Given the description of an element on the screen output the (x, y) to click on. 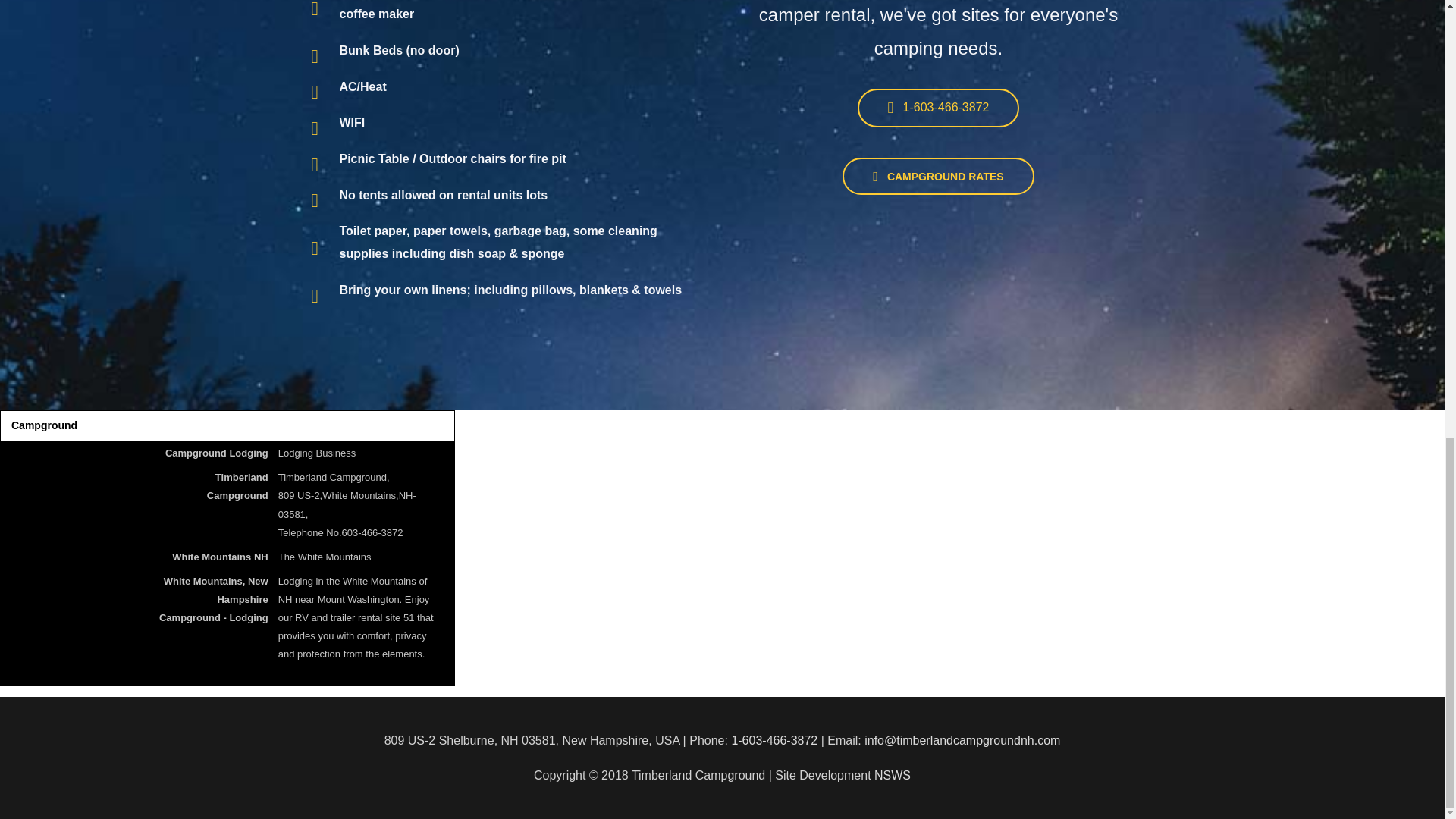
CAMPGROUND RATES (938, 176)
NSWS (893, 775)
1-603-466-3872 (938, 107)
Click Here (938, 107)
1-603-466-3872 (773, 739)
Click Here (938, 176)
